Given the description of an element on the screen output the (x, y) to click on. 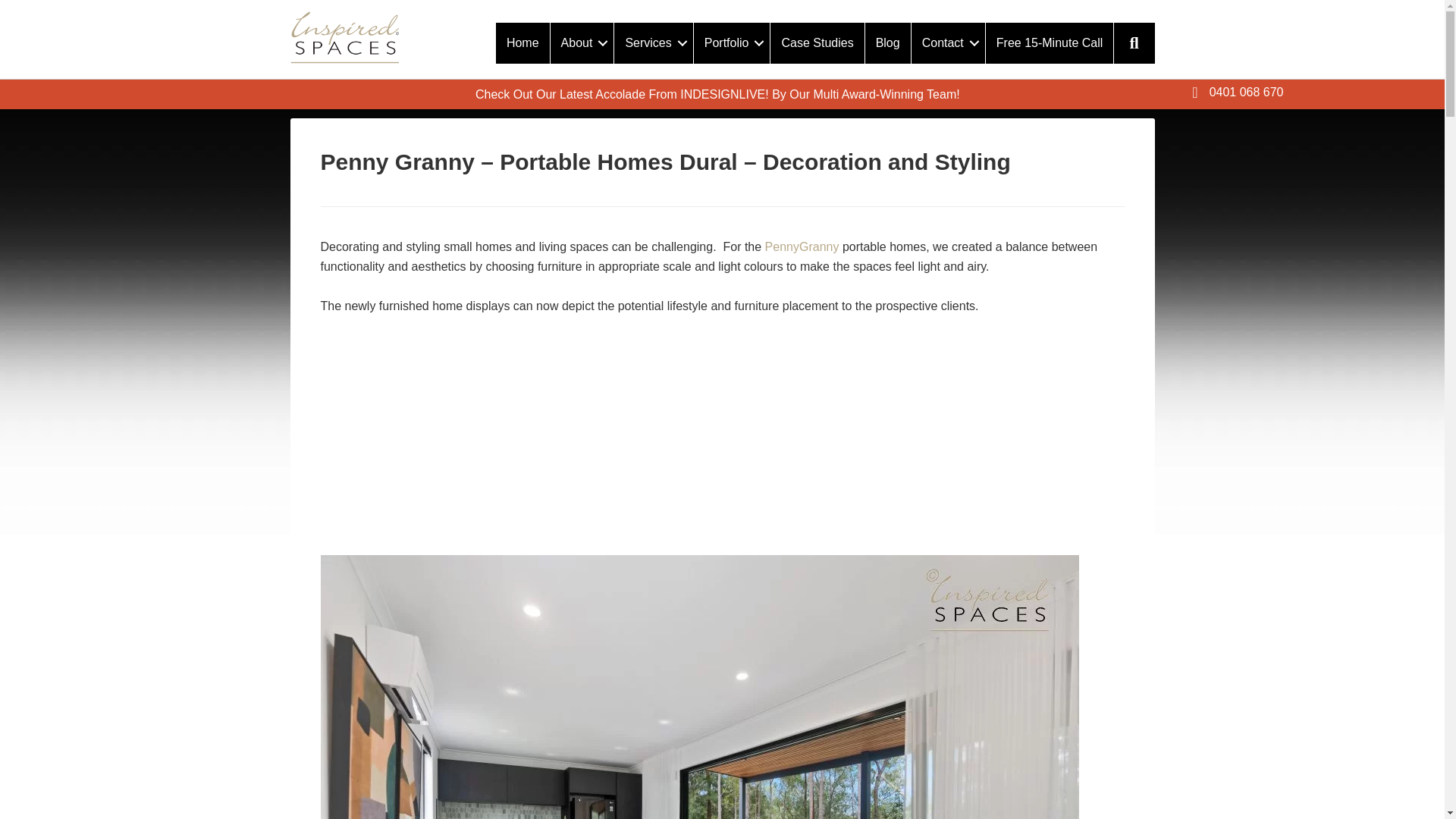
PennyGranny (802, 246)
About (582, 42)
Case Studies (816, 42)
Portfolio (732, 42)
Contact (948, 42)
Check Out Our Latest Accolade From INDESIGNLIVE! (622, 93)
Home (523, 42)
0401 068 670 (1237, 97)
Blog (887, 42)
Services (653, 42)
Free 15-Minute Call (1049, 42)
inspired-spaces-interior-design-logo (343, 37)
